Given the description of an element on the screen output the (x, y) to click on. 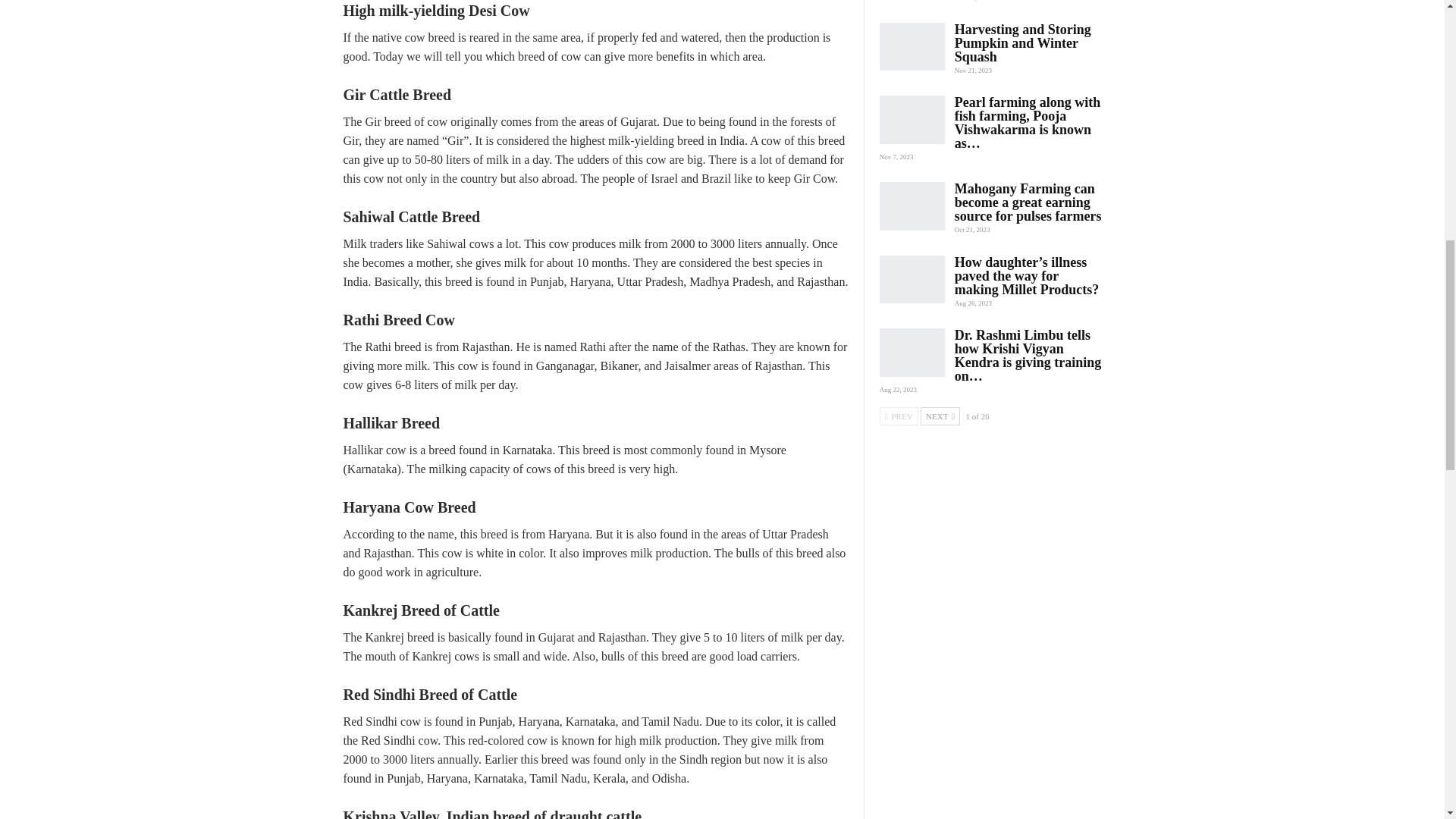
Harvesting and Storing Pumpkin and Winter Squash (911, 46)
